Given the description of an element on the screen output the (x, y) to click on. 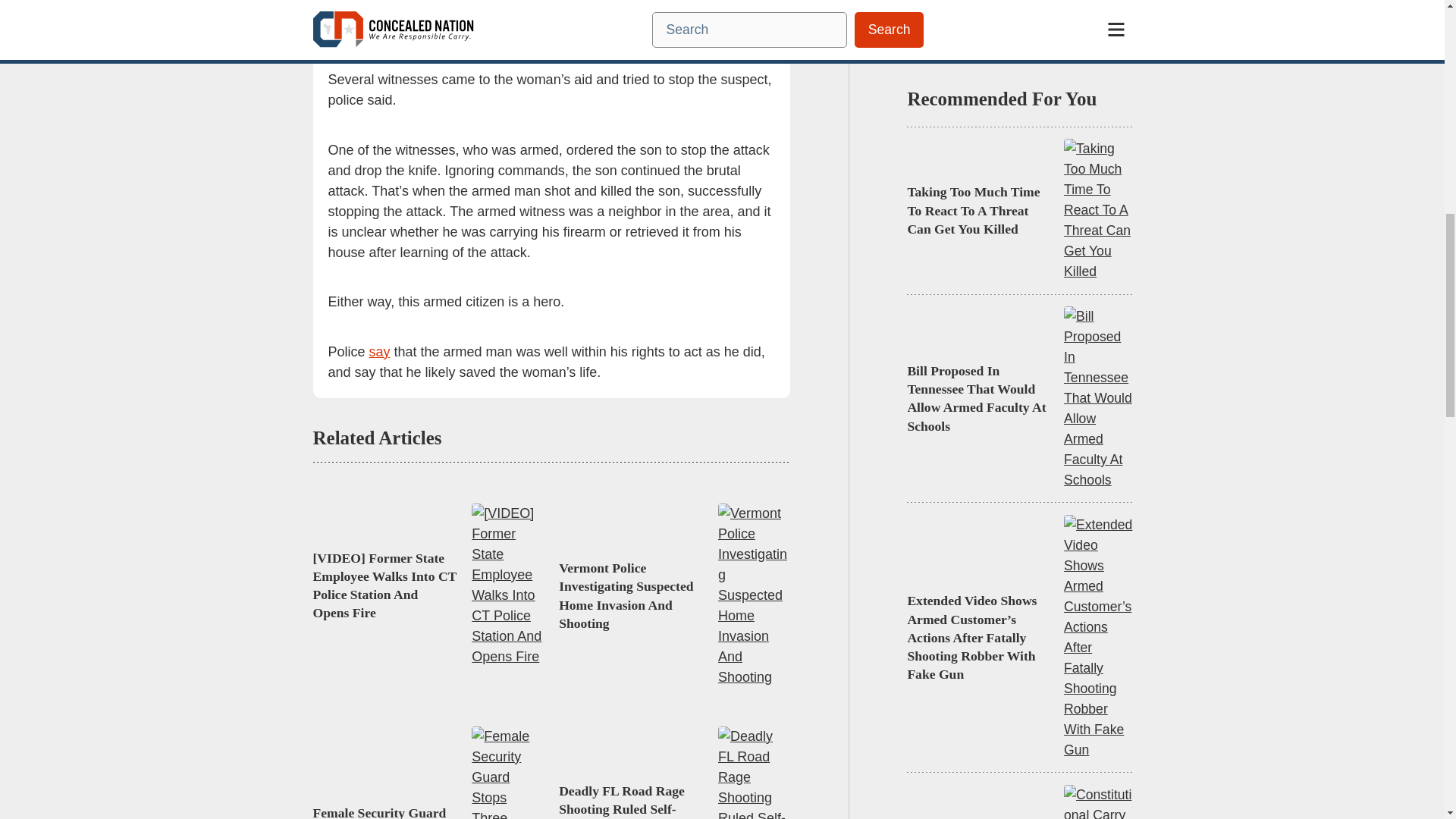
say (379, 351)
